Given the description of an element on the screen output the (x, y) to click on. 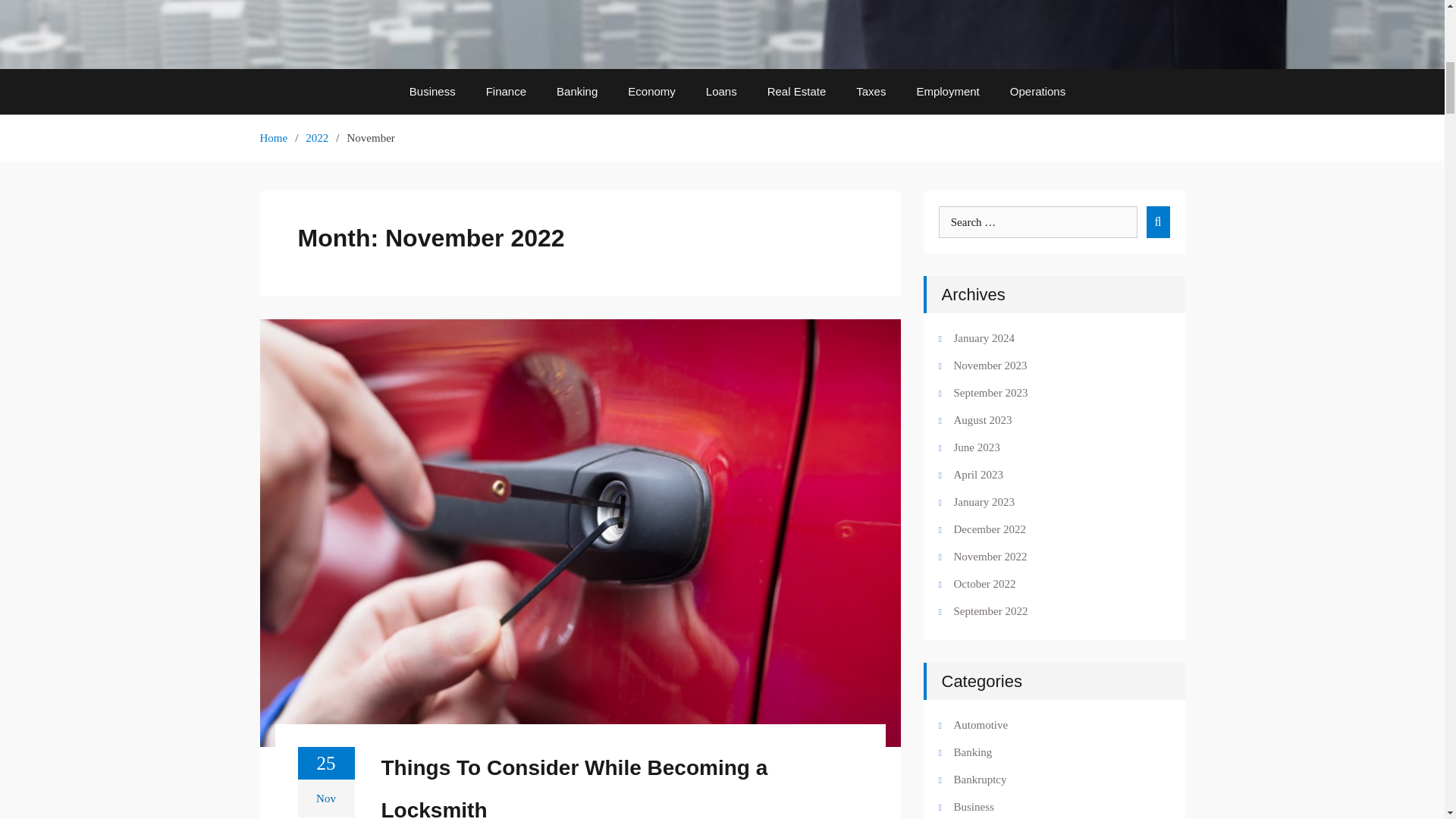
Things To Consider While Becoming a Locksmith (617, 782)
Business (432, 91)
Finance (505, 91)
Real Estate (796, 91)
Employment (947, 91)
September 2023 (1045, 392)
Banking (576, 91)
Operations (1037, 91)
November 2023 (1045, 364)
2022 (317, 137)
